Given the description of an element on the screen output the (x, y) to click on. 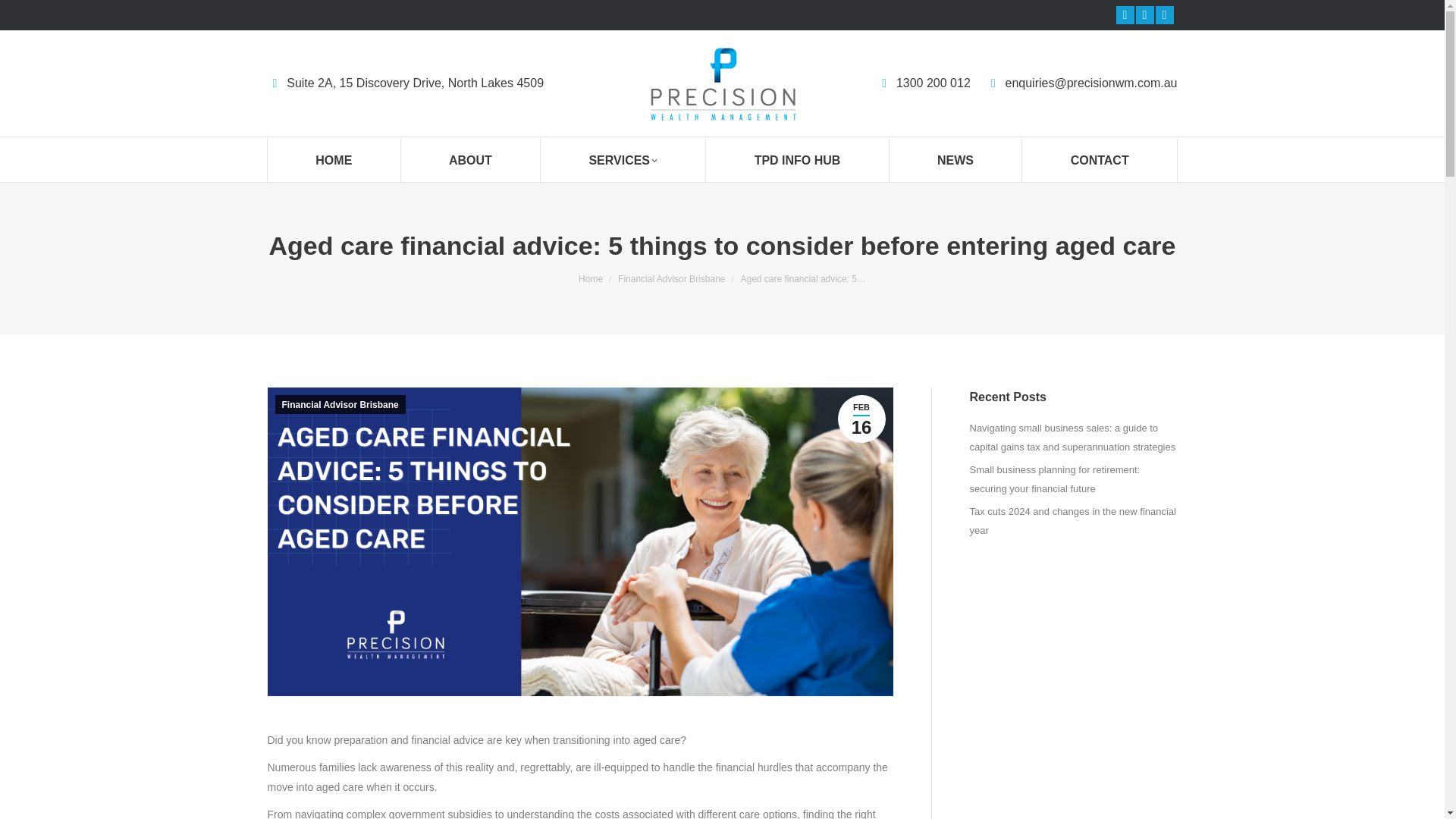
Home (590, 278)
1300 200 012 (923, 83)
Financial Advisor Brisbane (671, 278)
SERVICES (623, 159)
TPD INFO HUB (797, 159)
8:30 am (861, 418)
Linkedin page opens in new window (1144, 14)
Facebook page opens in new window (1125, 14)
CONTACT (1099, 159)
NEWS (955, 159)
